Given the description of an element on the screen output the (x, y) to click on. 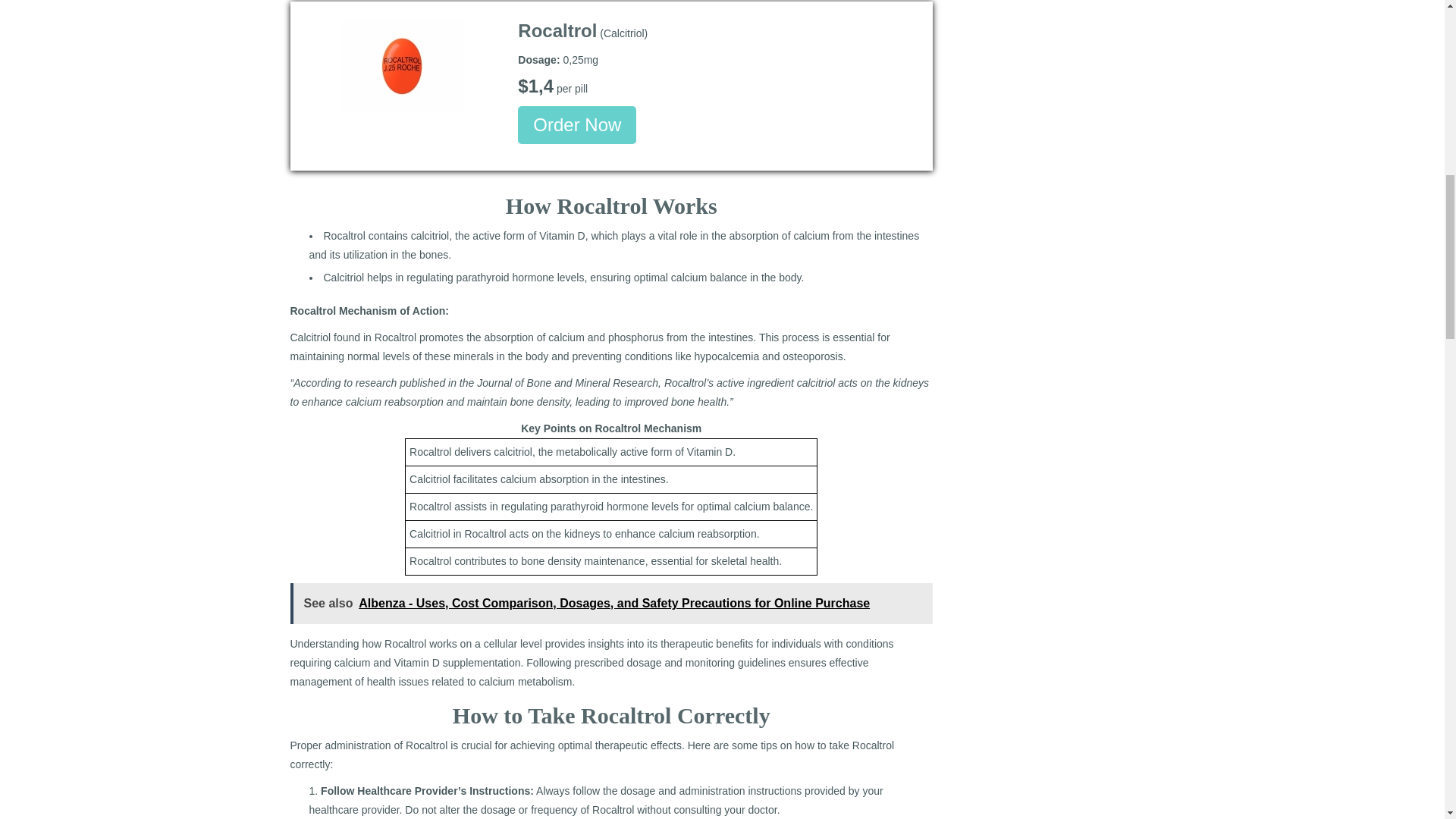
Order Now (577, 125)
